Given the description of an element on the screen output the (x, y) to click on. 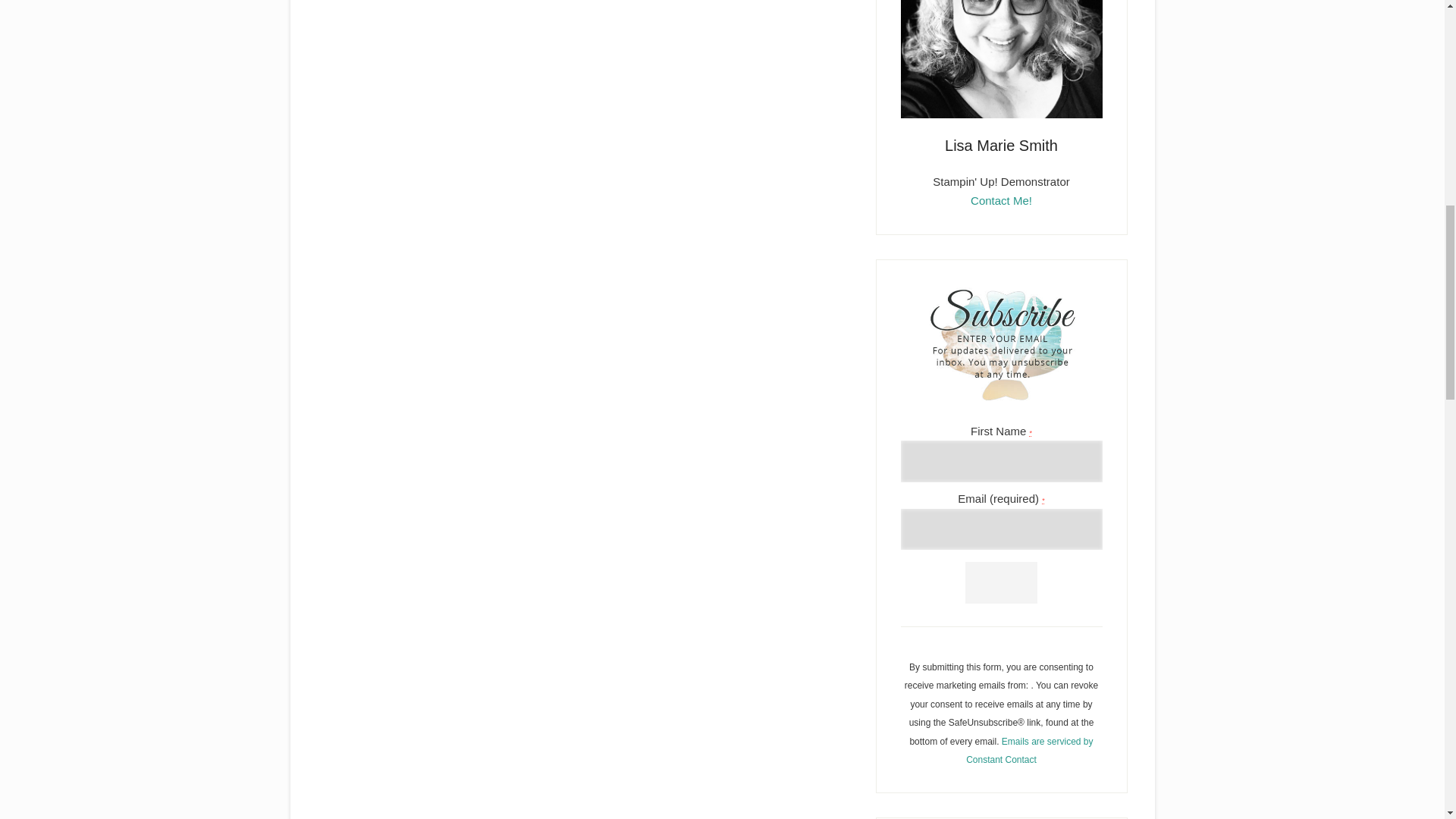
Sign up (1000, 582)
Contact Me! (1001, 200)
Sign up (1000, 582)
Emails are serviced by Constant Contact (1029, 750)
